Given the description of an element on the screen output the (x, y) to click on. 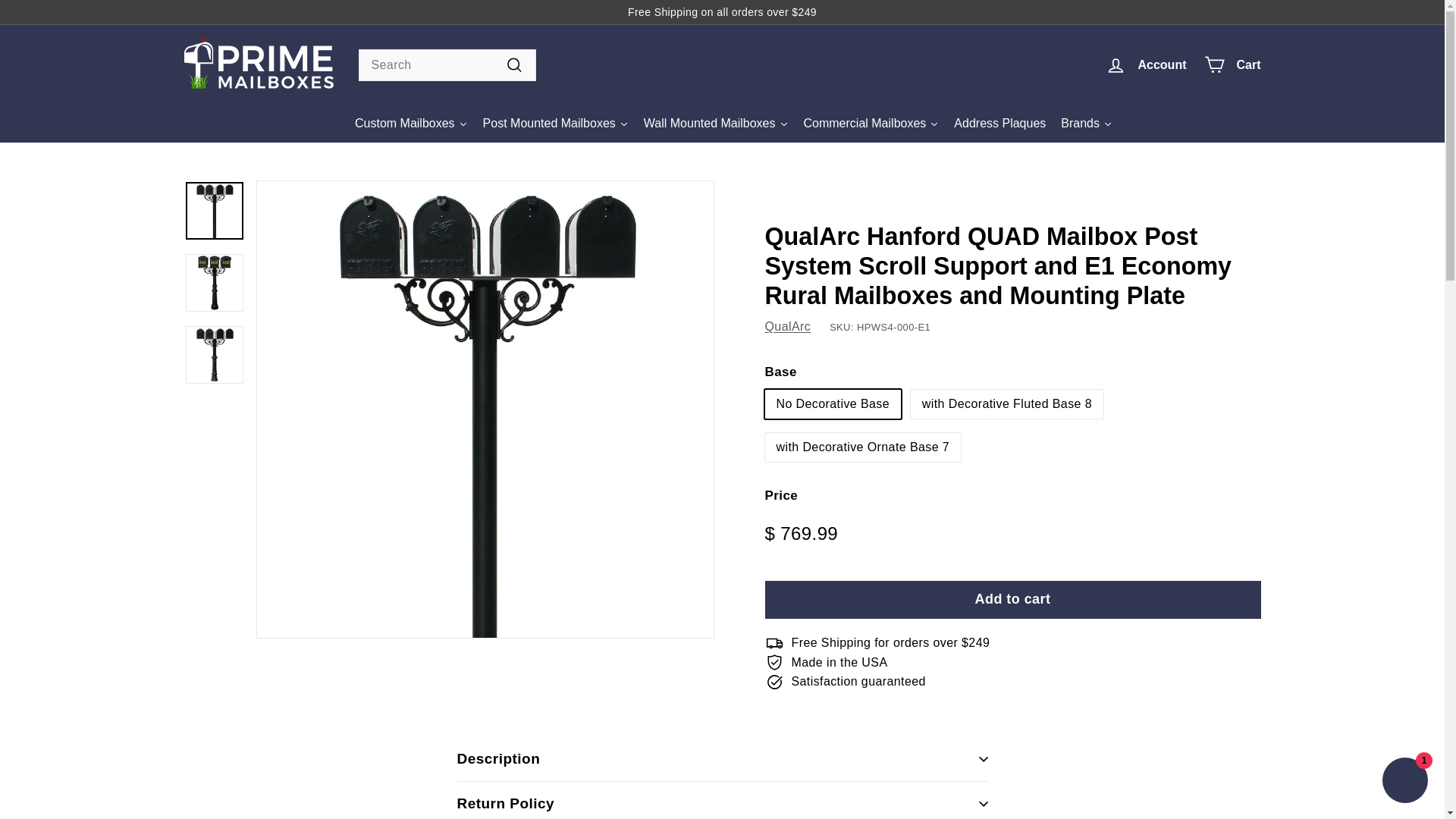
Address Plaques (999, 123)
Commercial Mailboxes (871, 123)
Address Plaques (999, 123)
Brands (1085, 123)
Wall Mounted Mailboxes (716, 123)
Brands (1085, 123)
Custom Mailboxes (411, 123)
Account (1145, 64)
Commercial Mailboxes (871, 123)
Post Mounted Mailboxes (556, 123)
Shopify online store chat (1404, 781)
Wall Mounted Mailboxes (716, 123)
